Given the description of an element on the screen output the (x, y) to click on. 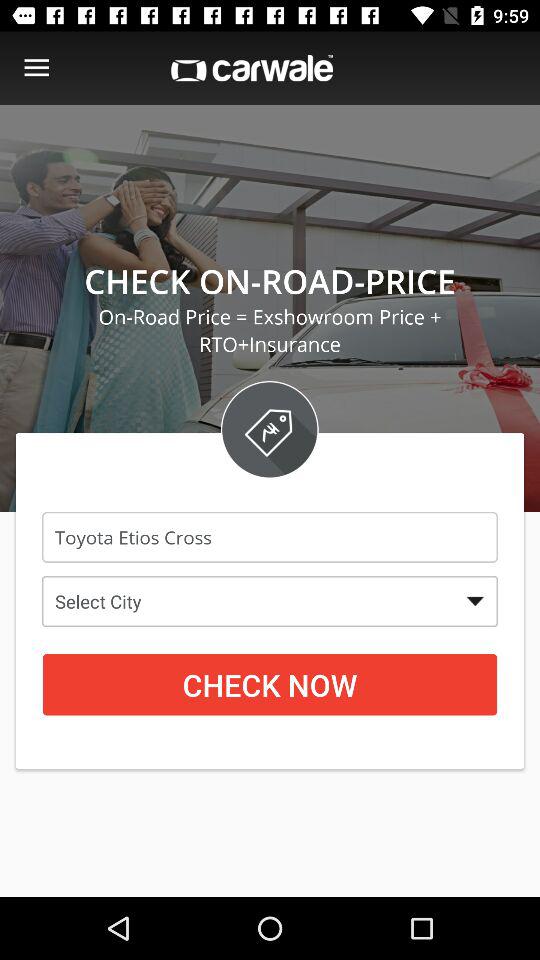
more (36, 68)
